Given the description of an element on the screen output the (x, y) to click on. 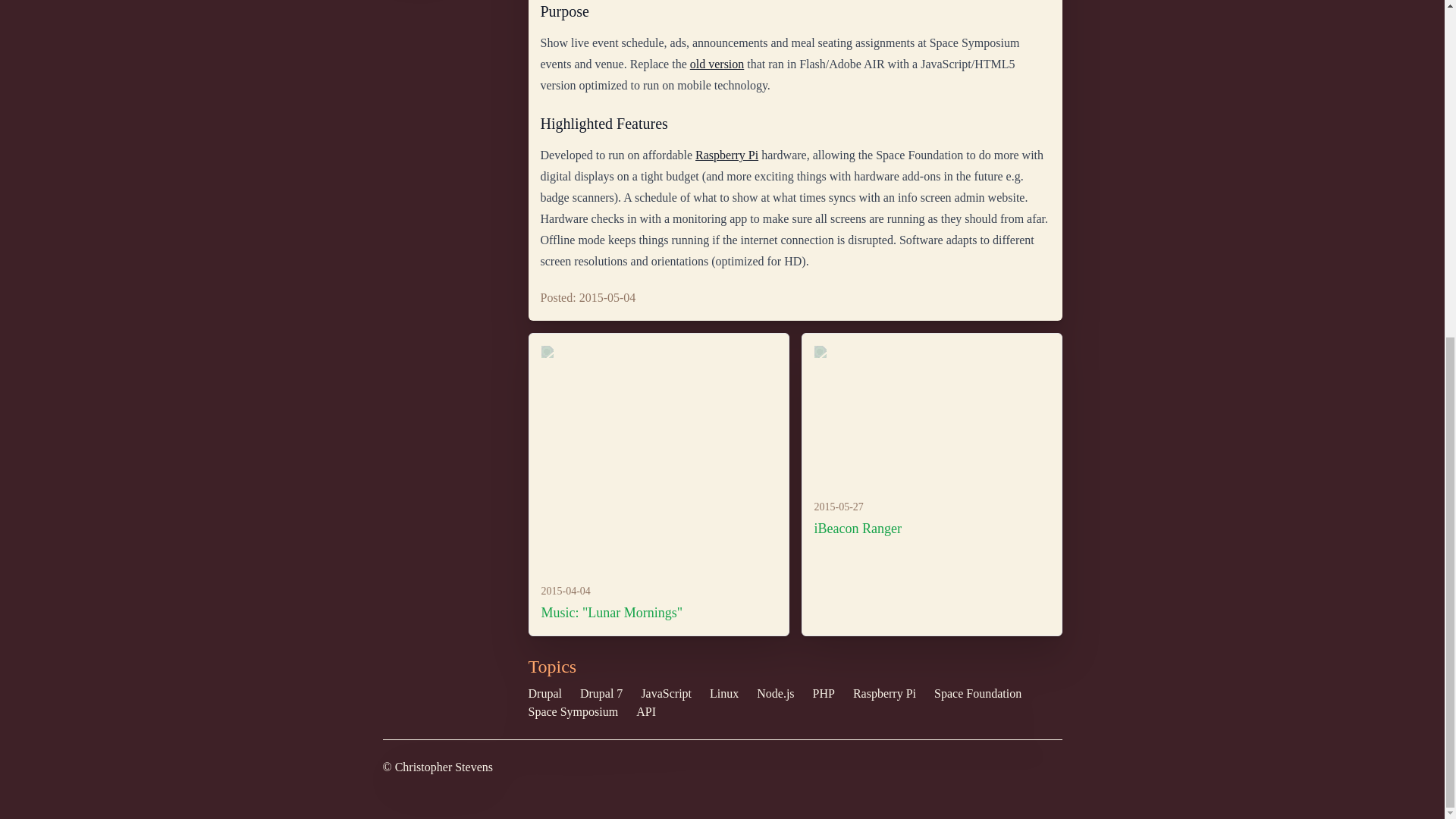
API (646, 711)
PHP (823, 693)
Raspberry Pi (884, 693)
Linux (724, 693)
Drupal 7 (601, 693)
Drupal (543, 693)
Space Foundation (978, 693)
Space Symposium (572, 711)
JavaScript (665, 693)
Node.js (775, 693)
